Given the description of an element on the screen output the (x, y) to click on. 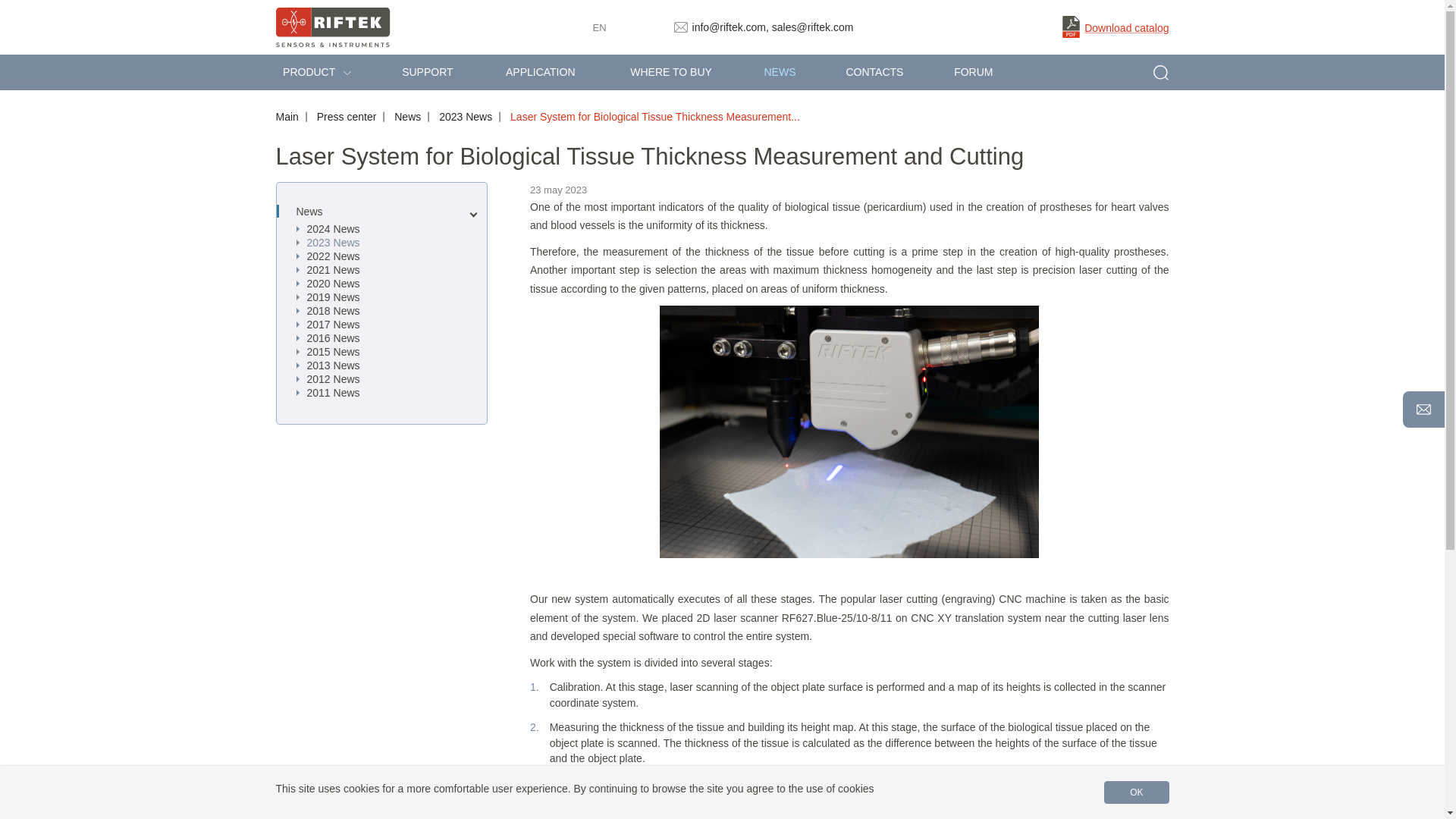
Press center (347, 116)
Download catalog (1115, 28)
Main (287, 116)
News (407, 116)
2023 News (465, 116)
PRODUCT (326, 72)
RIFTEK LLC (333, 27)
